Given the description of an element on the screen output the (x, y) to click on. 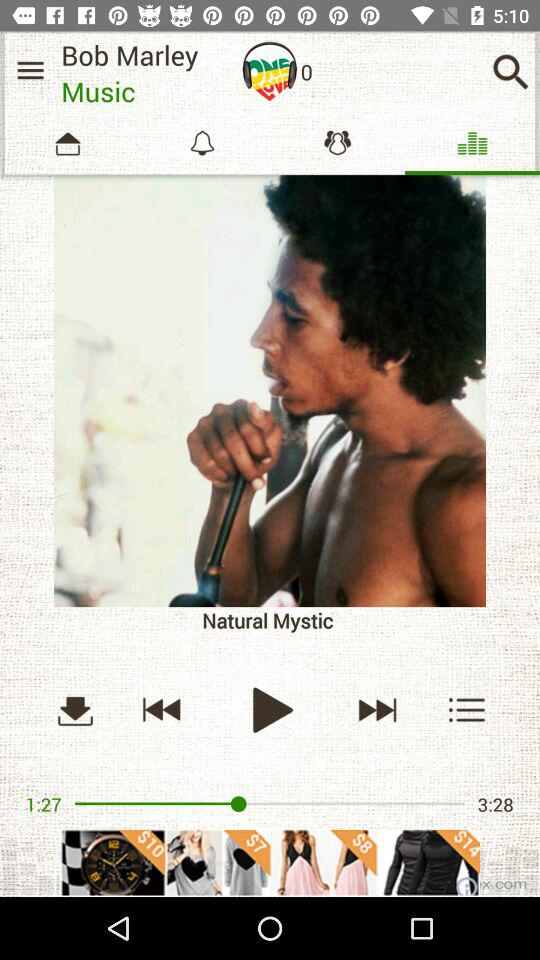
more (270, 391)
